Given the description of an element on the screen output the (x, y) to click on. 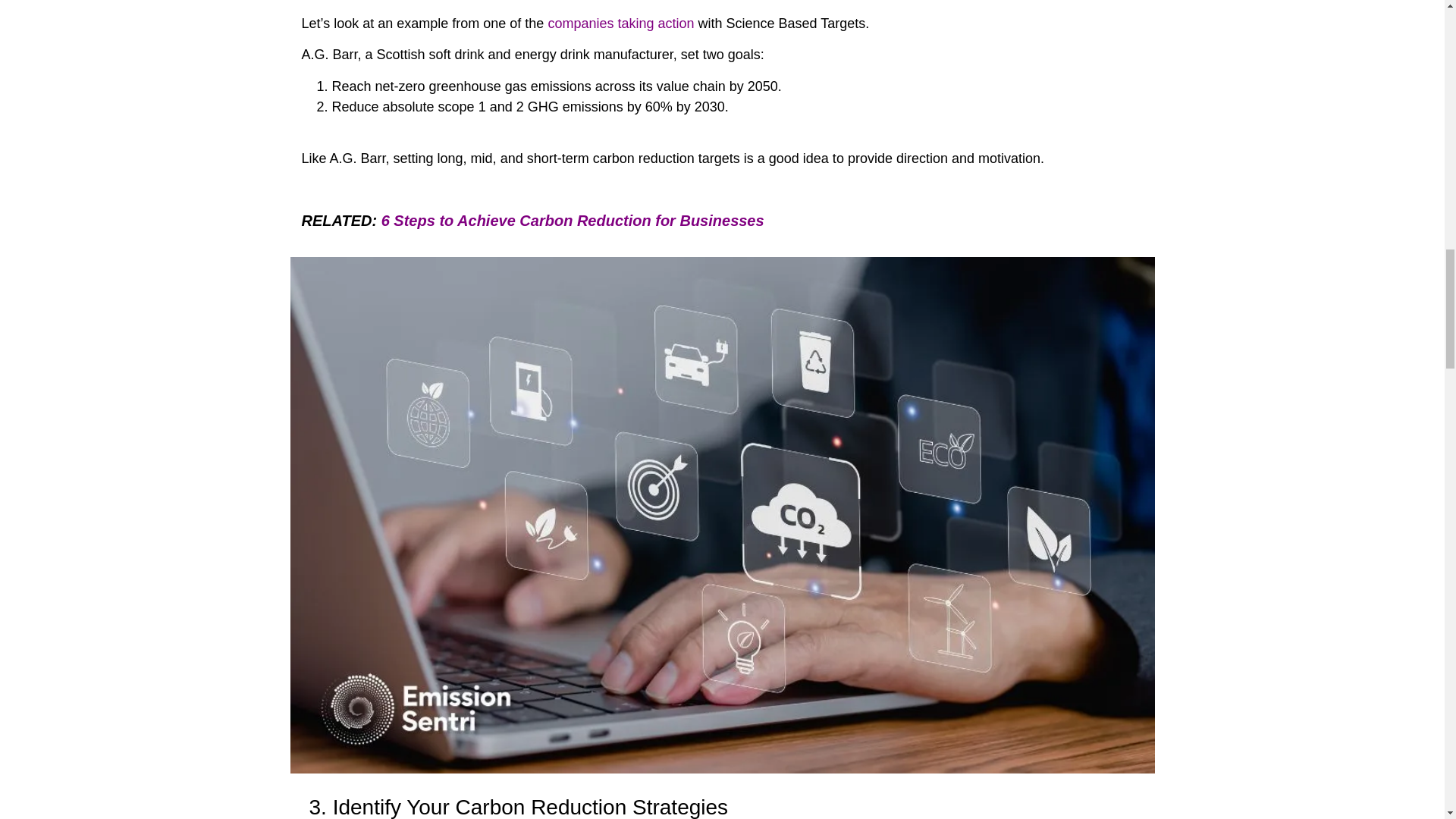
companies taking action (620, 23)
6 Steps to Achieve Carbon Reduction for Businesses (572, 220)
